Given the description of an element on the screen output the (x, y) to click on. 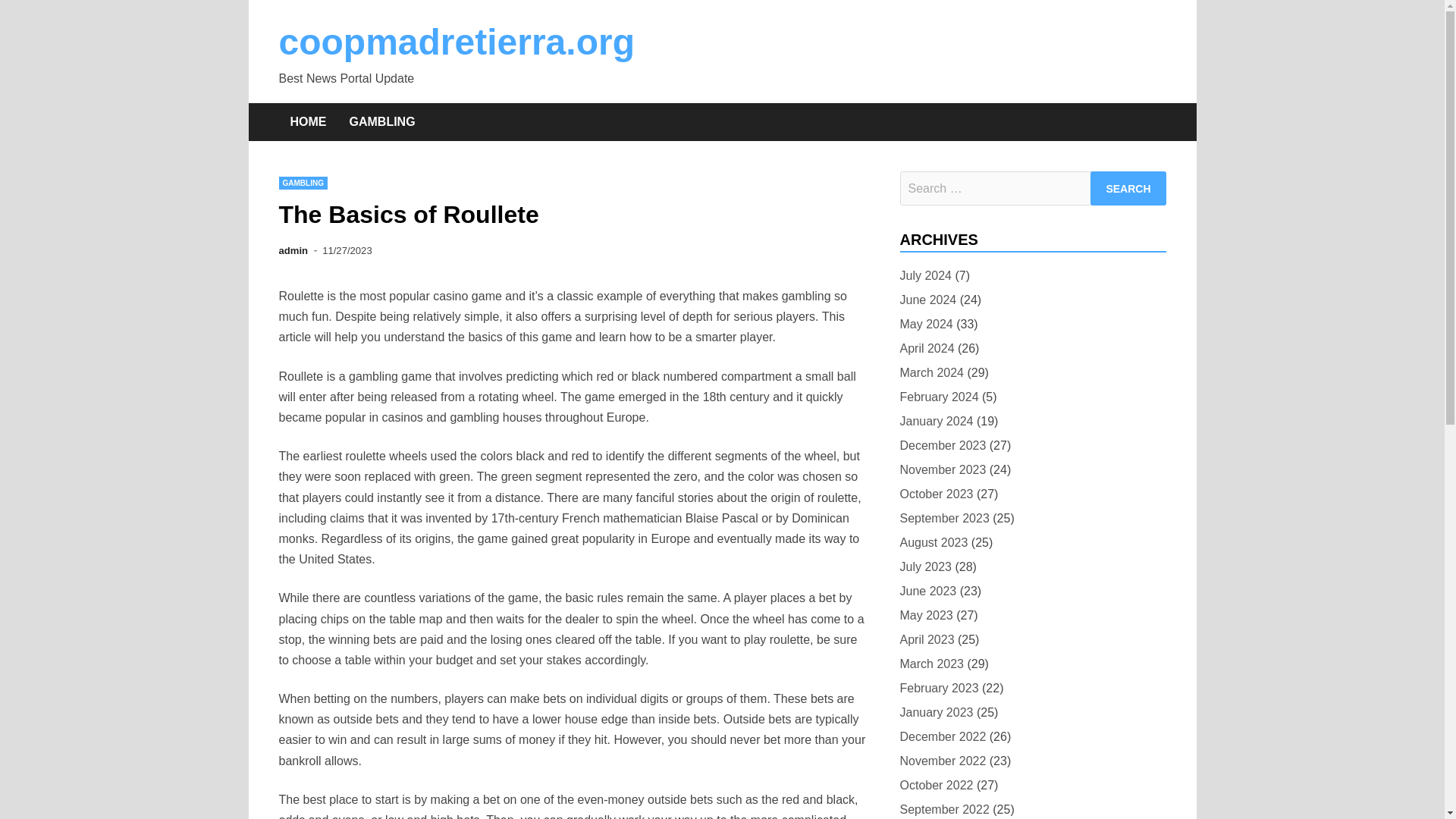
August 2023 (933, 542)
coopmadretierra.org (456, 42)
December 2022 (942, 736)
GAMBLING (381, 121)
HOME (308, 121)
July 2023 (925, 566)
Search (1128, 188)
September 2023 (943, 517)
November 2023 (942, 469)
December 2023 (942, 444)
Search (1128, 188)
October 2023 (935, 494)
September 2022 (943, 809)
May 2023 (925, 615)
January 2023 (935, 711)
